Given the description of an element on the screen output the (x, y) to click on. 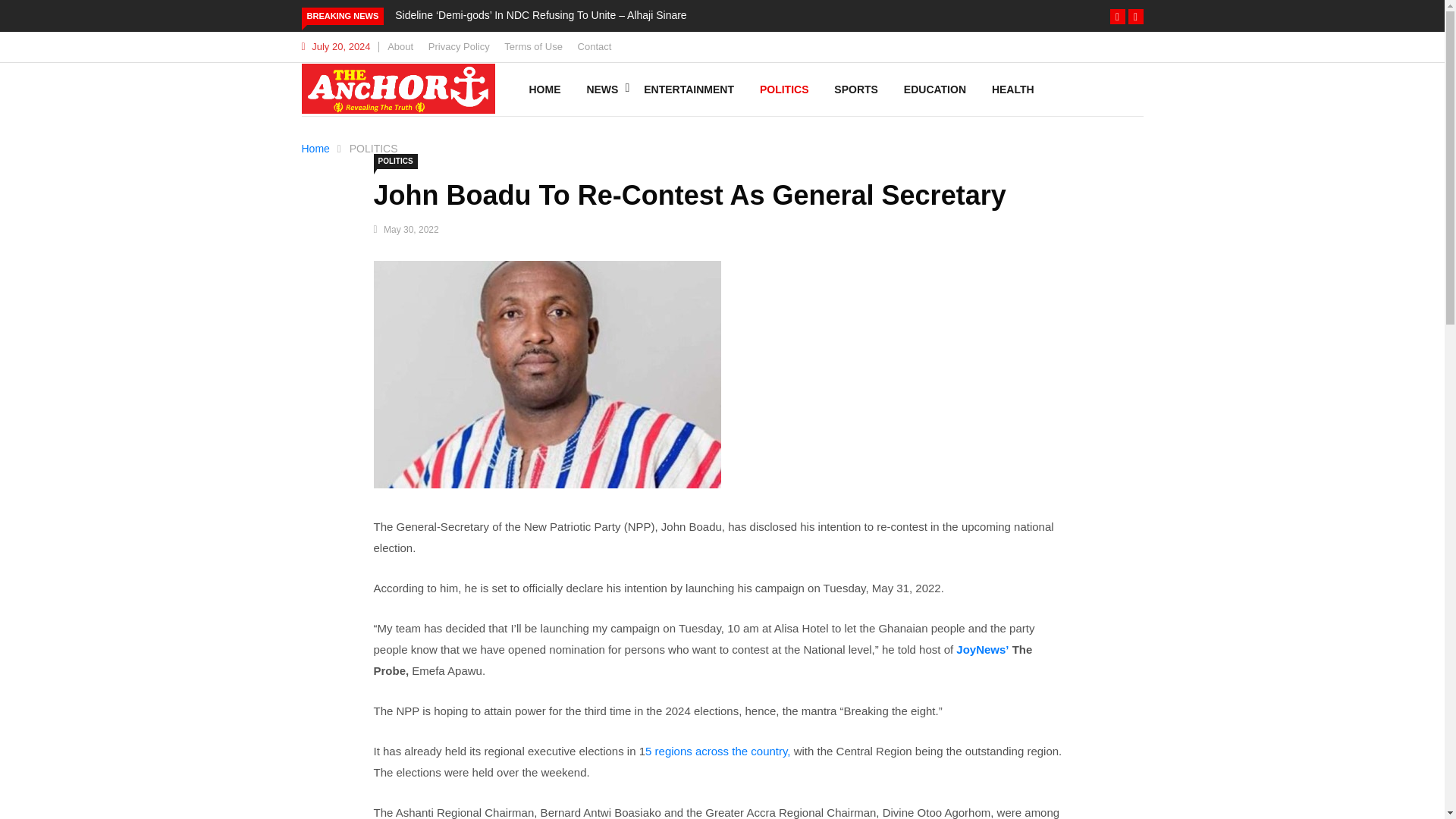
Privacy Policy (458, 46)
POLITICS (784, 89)
HEALTH (1012, 89)
ENTERTAINMENT (688, 89)
NEWS (601, 89)
Terms of Use (532, 46)
Home (315, 148)
POLITICS (373, 148)
EDUCATION (934, 89)
Contact (594, 46)
POLITICS (394, 160)
SPORTS (855, 89)
5 regions across the country, (717, 750)
logo (398, 88)
HOME (544, 89)
